Given the description of an element on the screen output the (x, y) to click on. 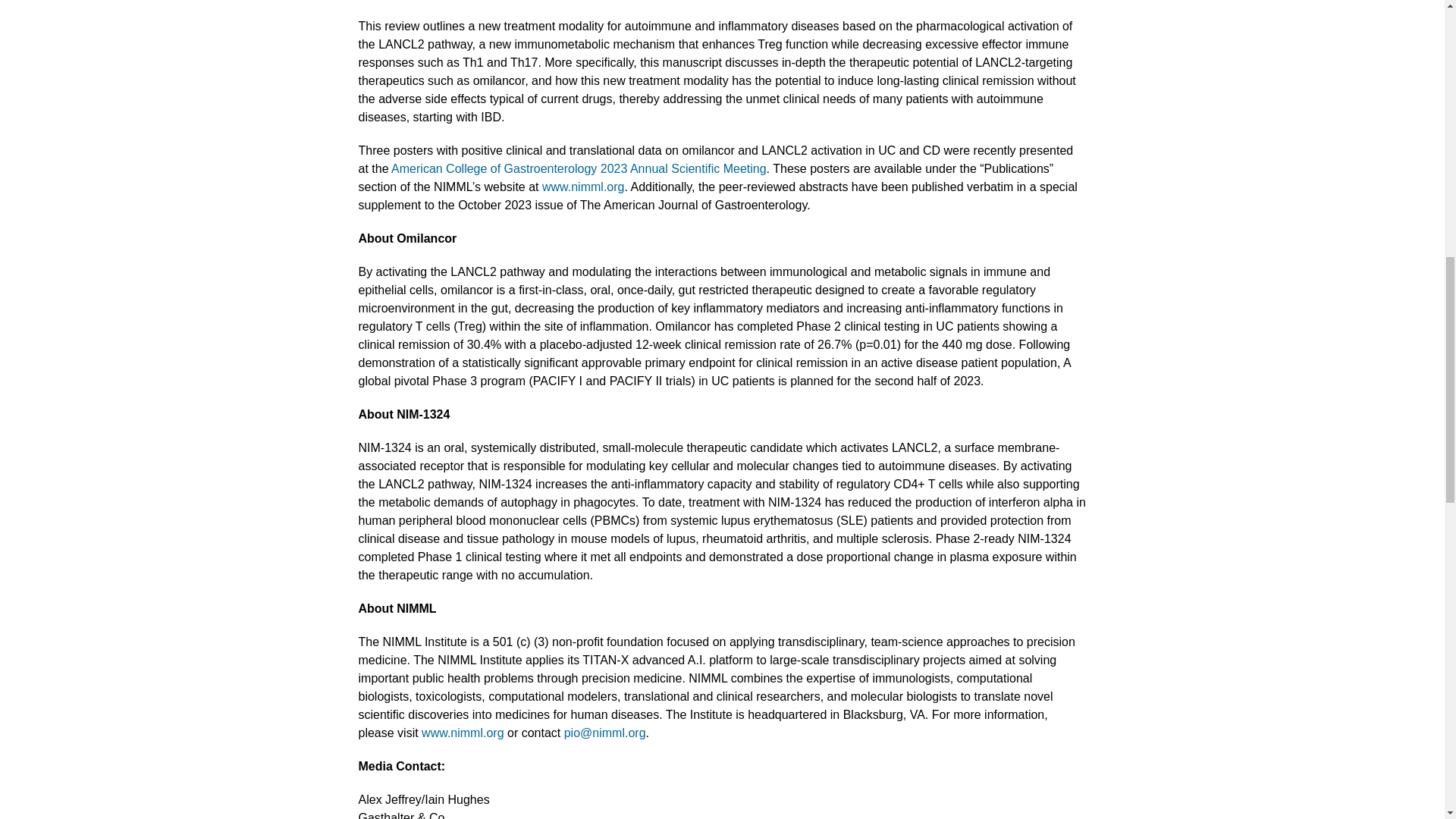
www.nimml.org (462, 732)
www.nimml.org (582, 186)
